Given the description of an element on the screen output the (x, y) to click on. 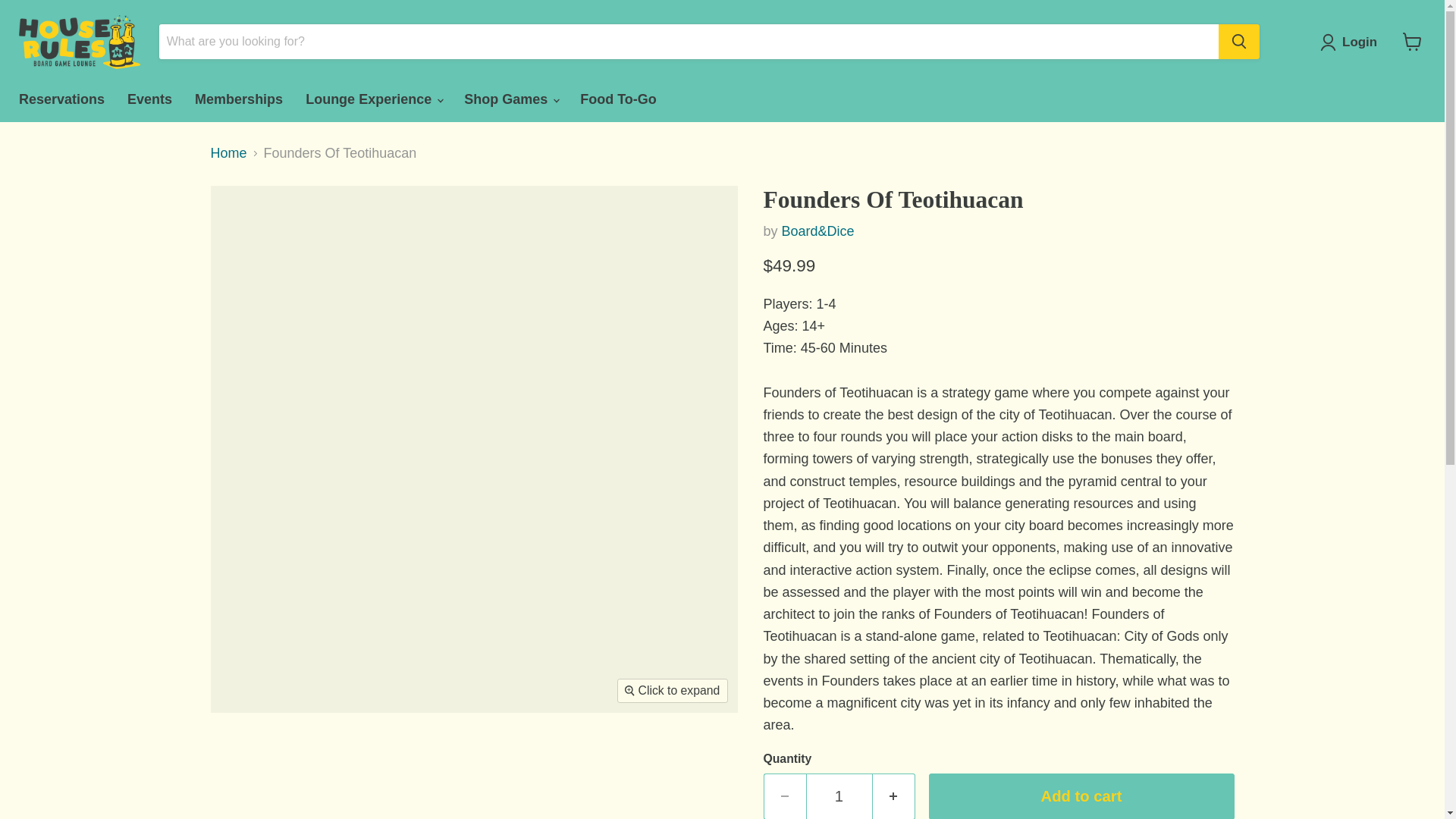
Memberships (238, 99)
Reservations (61, 99)
Food To-Go (618, 99)
Events (149, 99)
View cart (1411, 41)
1 (838, 796)
Login (1352, 42)
